Given the description of an element on the screen output the (x, y) to click on. 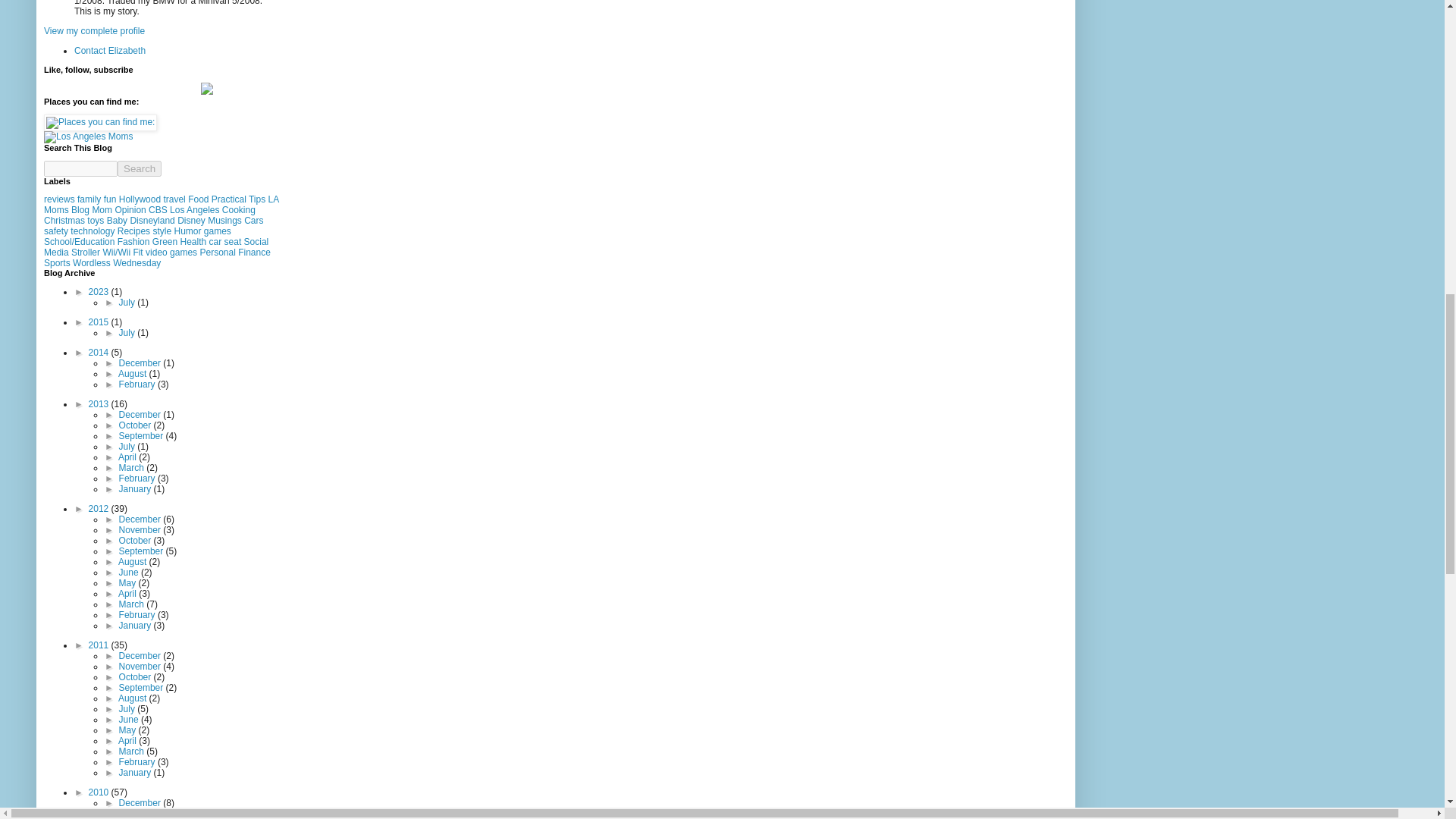
Search (139, 168)
View my complete profile (93, 30)
Search (139, 168)
Contact Elizabeth (109, 50)
Search (139, 168)
